Given the description of an element on the screen output the (x, y) to click on. 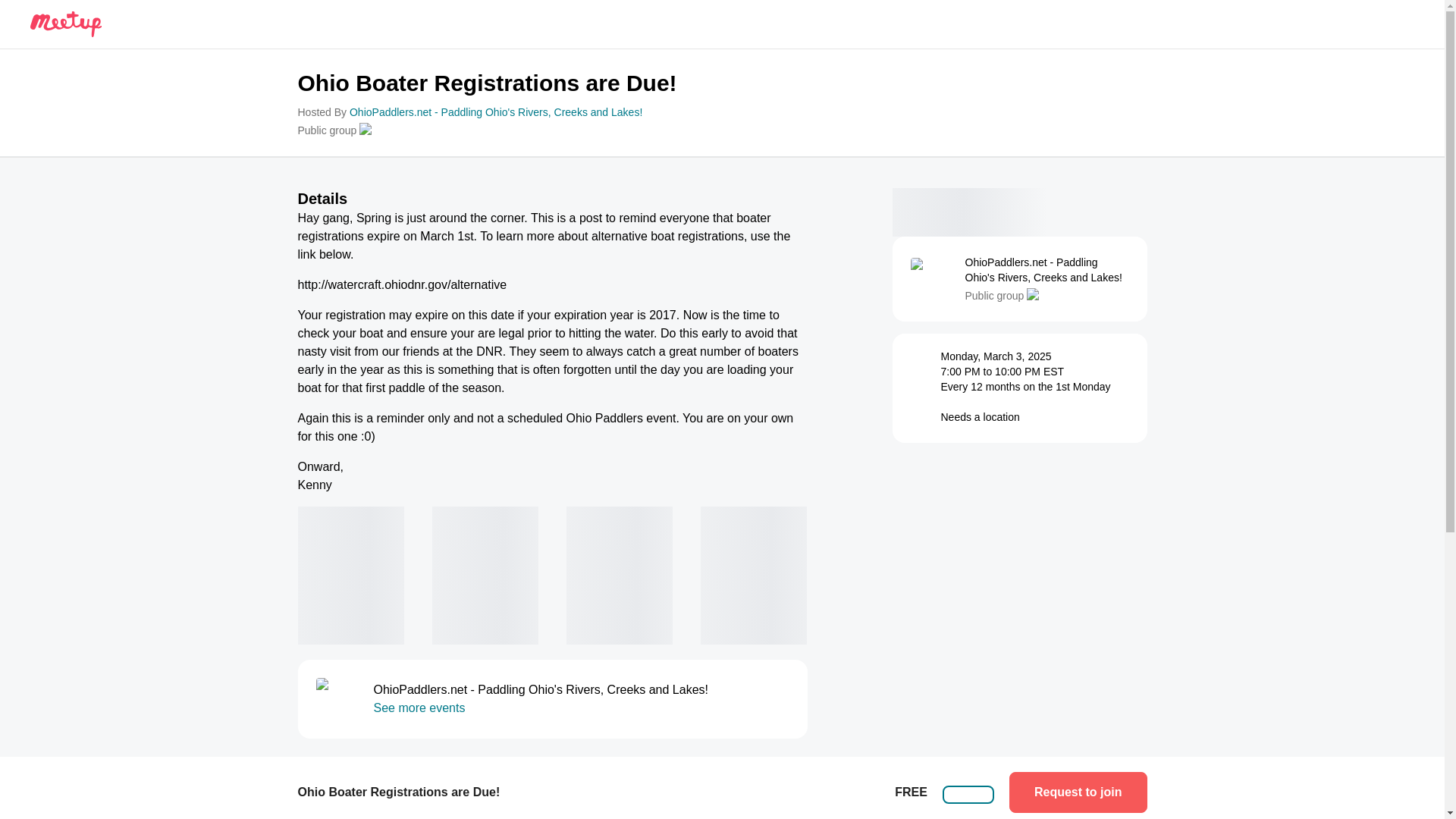
Request to join (1078, 792)
